Given the description of an element on the screen output the (x, y) to click on. 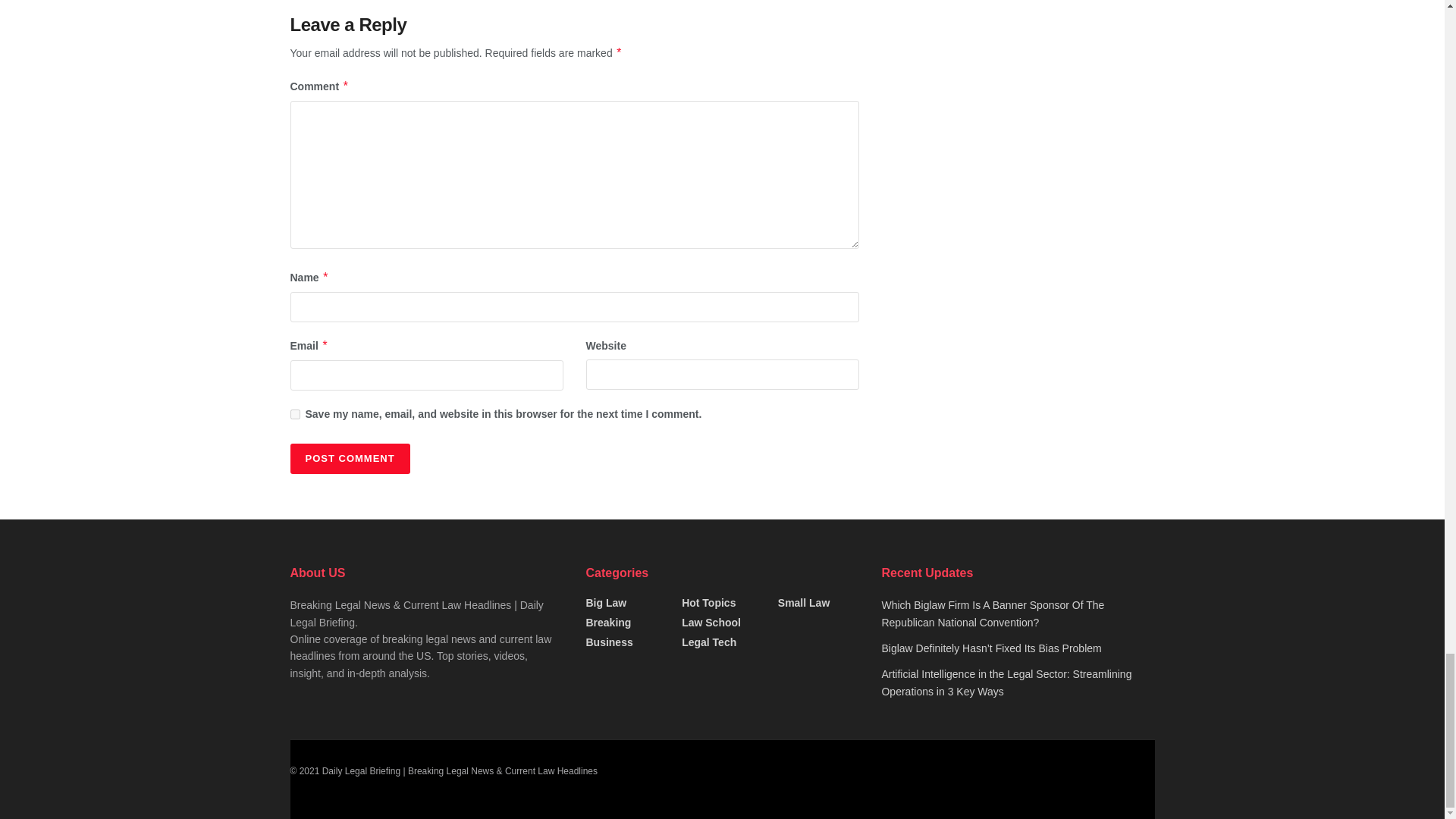
yes (294, 414)
Post Comment (349, 458)
